Given the description of an element on the screen output the (x, y) to click on. 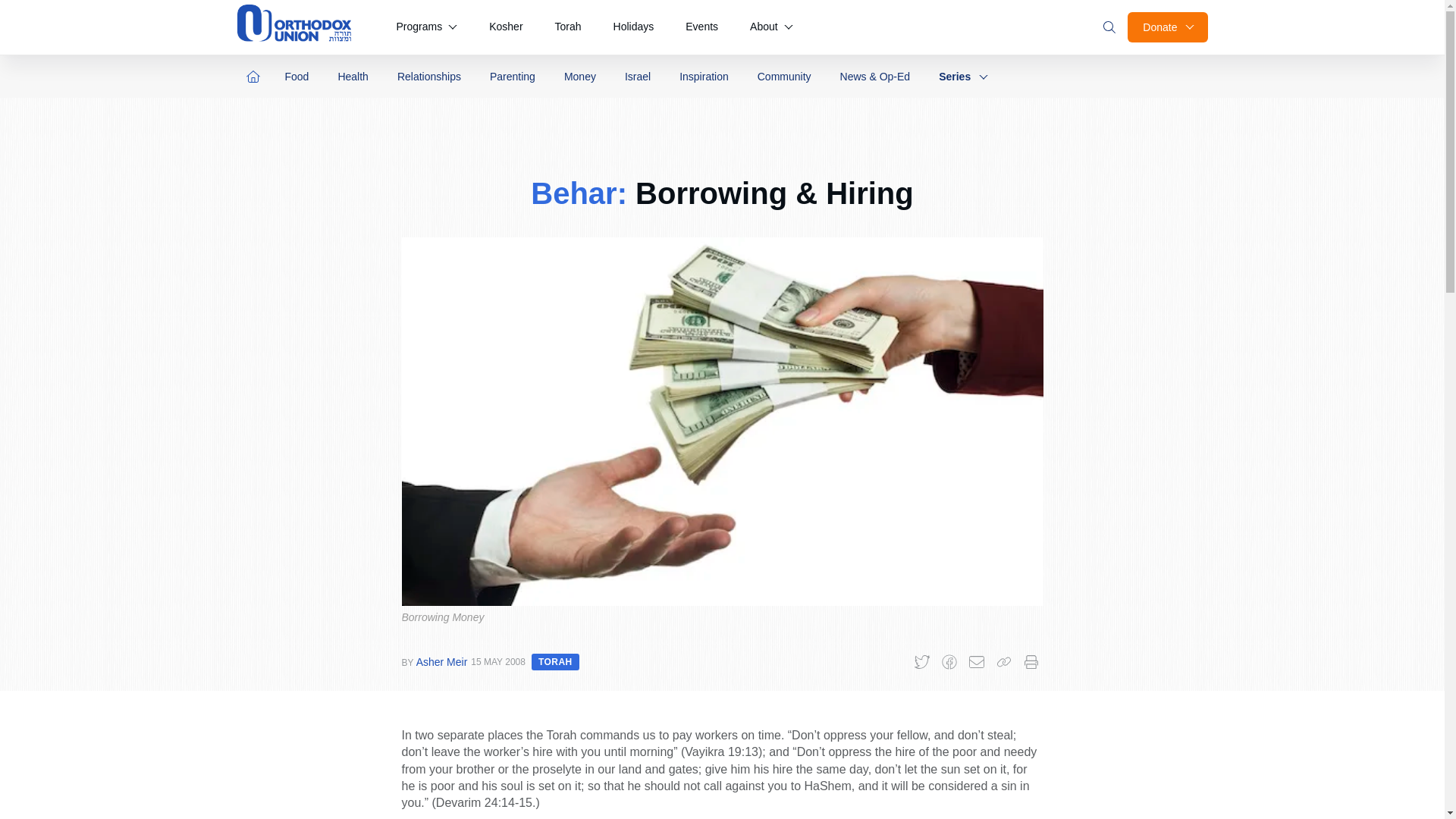
Holidays (633, 27)
Kosher (505, 27)
About (771, 27)
Posts by Asher Meir (441, 662)
Donate (1166, 27)
Events (701, 27)
Programs (425, 27)
Torah (568, 27)
